Given the description of an element on the screen output the (x, y) to click on. 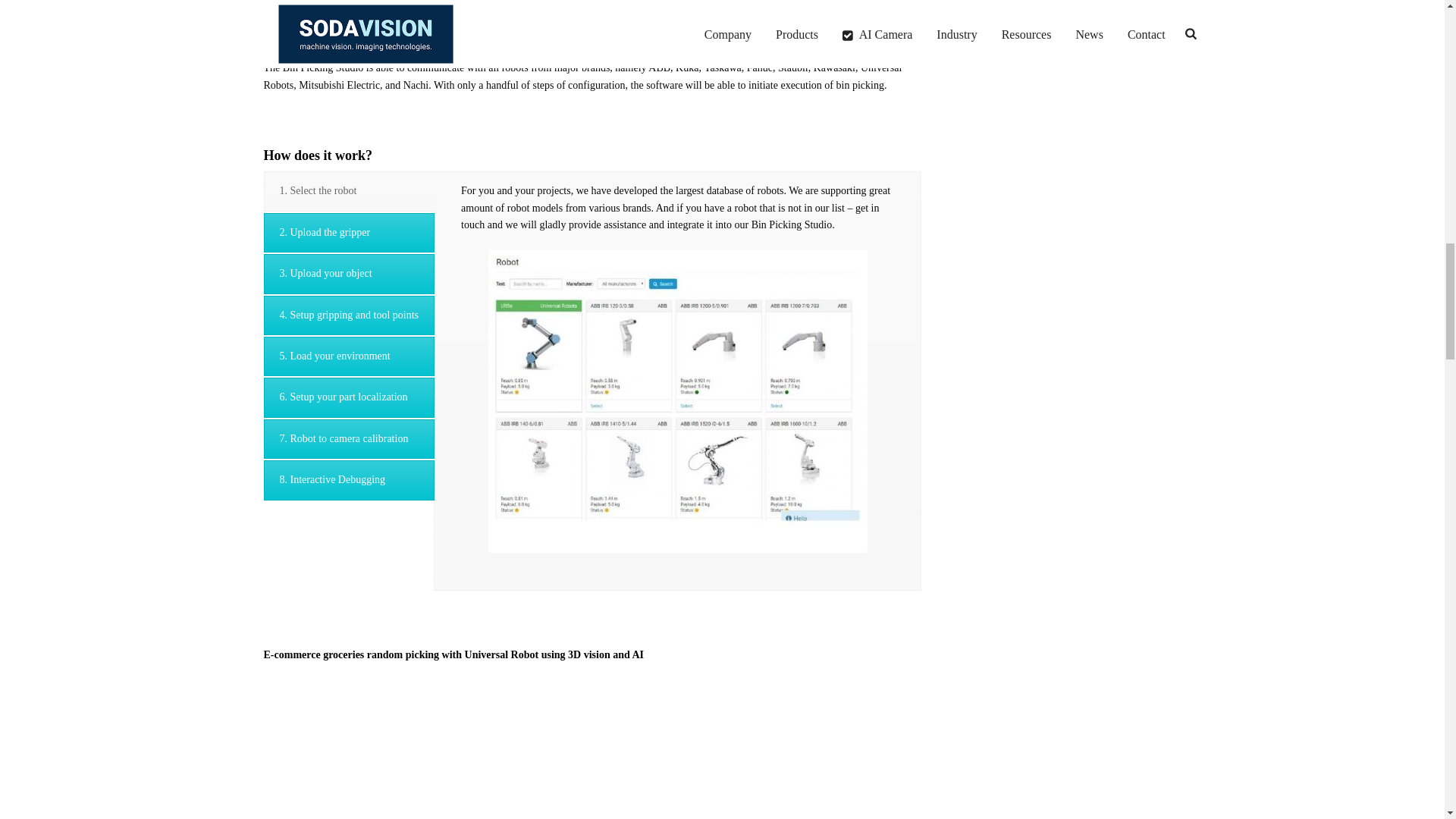
select-the-robot-sodavision-photoneo (677, 400)
